Given the description of an element on the screen output the (x, y) to click on. 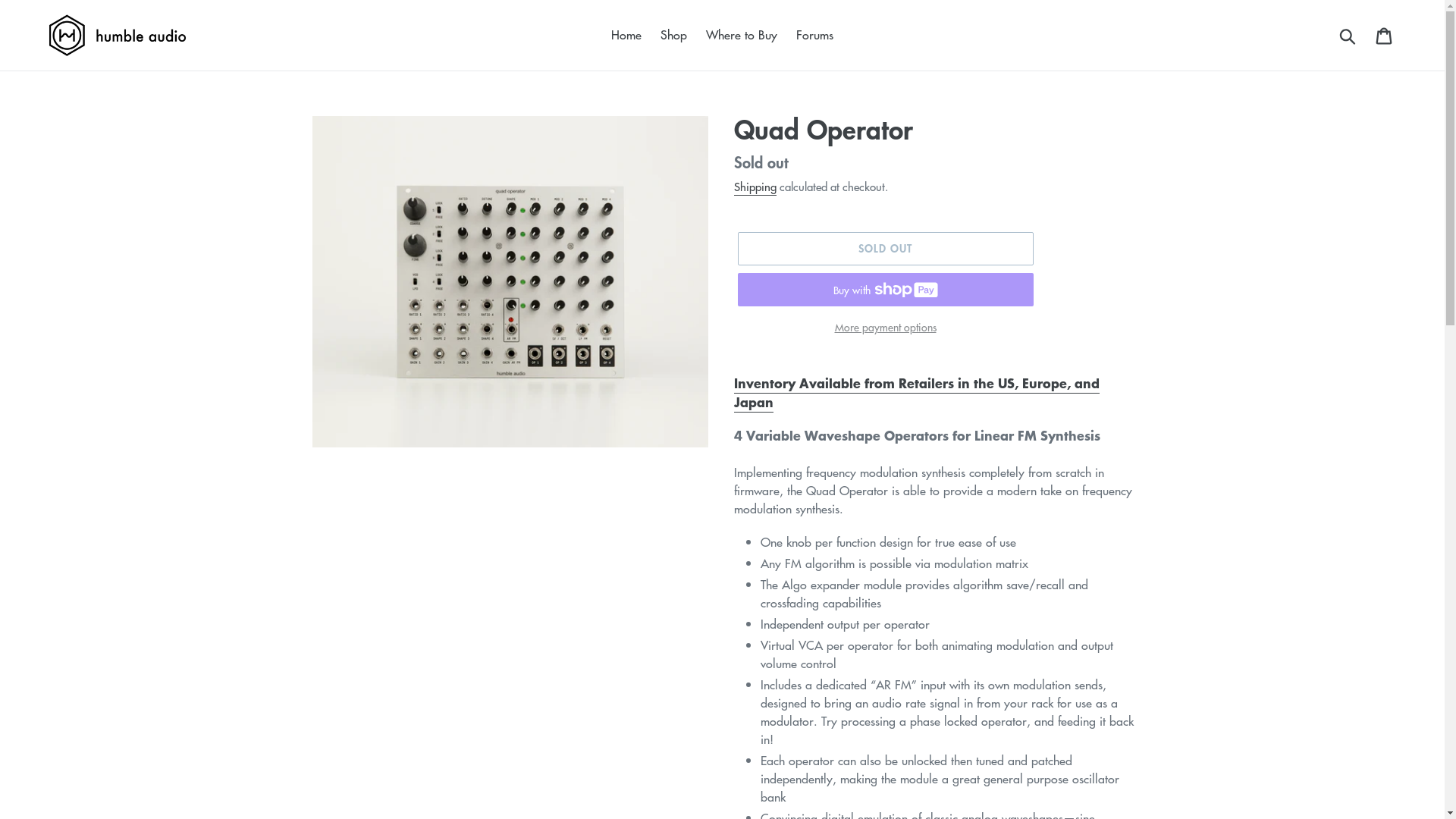
More payment options Element type: text (884, 326)
Where to Buy Element type: text (741, 34)
Cart Element type: text (1384, 35)
Submit Element type: text (1348, 34)
Shipping Element type: text (755, 186)
Forums Element type: text (814, 34)
SOLD OUT Element type: text (884, 248)
Shop Element type: text (673, 34)
Home Element type: text (626, 34)
